Given the description of an element on the screen output the (x, y) to click on. 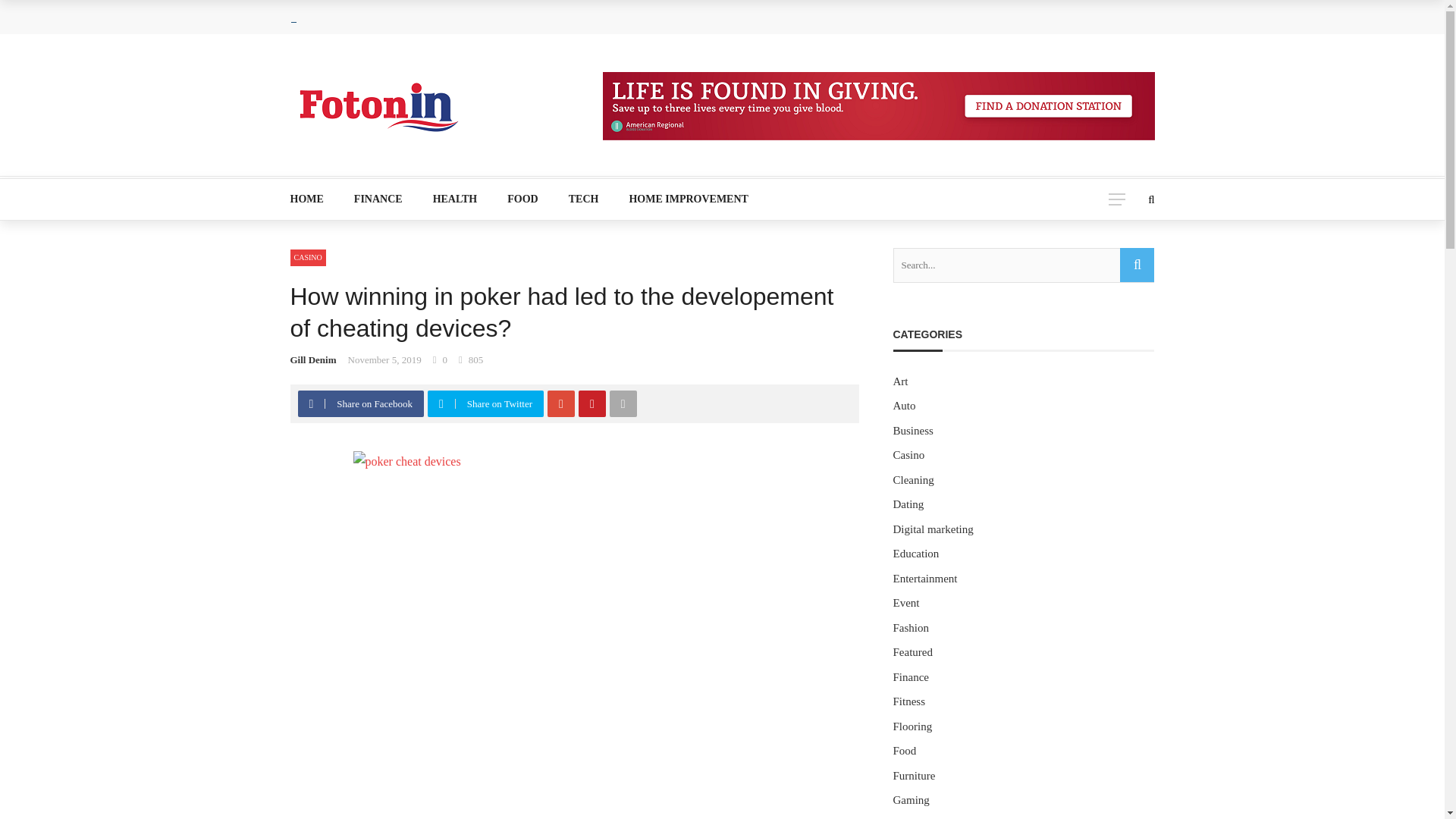
HEALTH (455, 199)
FOOD (522, 199)
FINANCE (378, 199)
TECH (583, 199)
HOME (313, 199)
HOME IMPROVEMENT (680, 199)
